Given the description of an element on the screen output the (x, y) to click on. 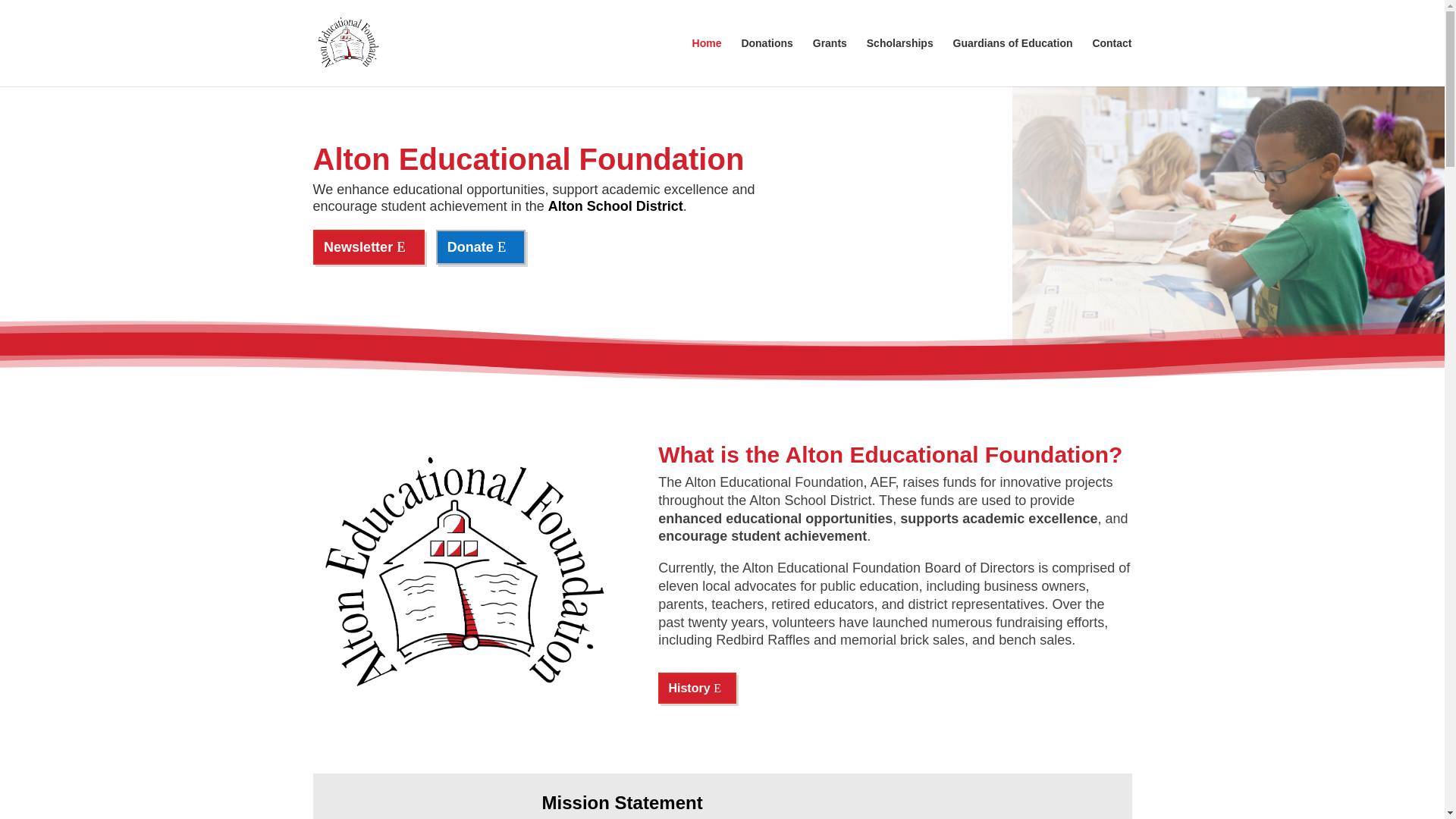
Guardians of Education (1013, 61)
History (696, 687)
Donations (766, 61)
Scholarships (899, 61)
Donate (480, 246)
Newsletter (369, 246)
